Given the description of an element on the screen output the (x, y) to click on. 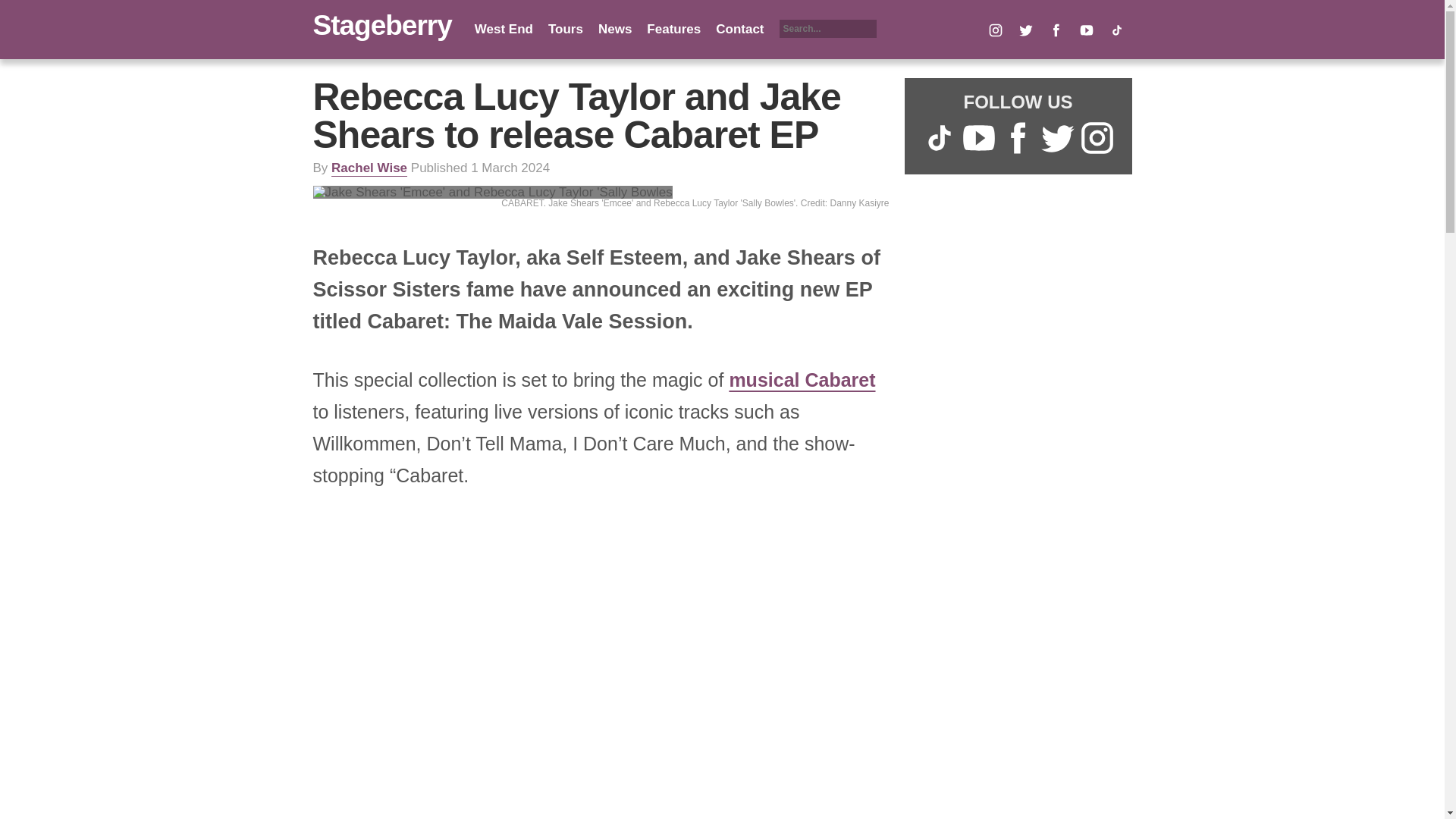
Features (673, 29)
Tours (565, 29)
Contact (739, 29)
Rachel Wise (369, 167)
Stageberry (382, 25)
musical Cabaret (802, 379)
News (614, 29)
West End (503, 29)
